Given the description of an element on the screen output the (x, y) to click on. 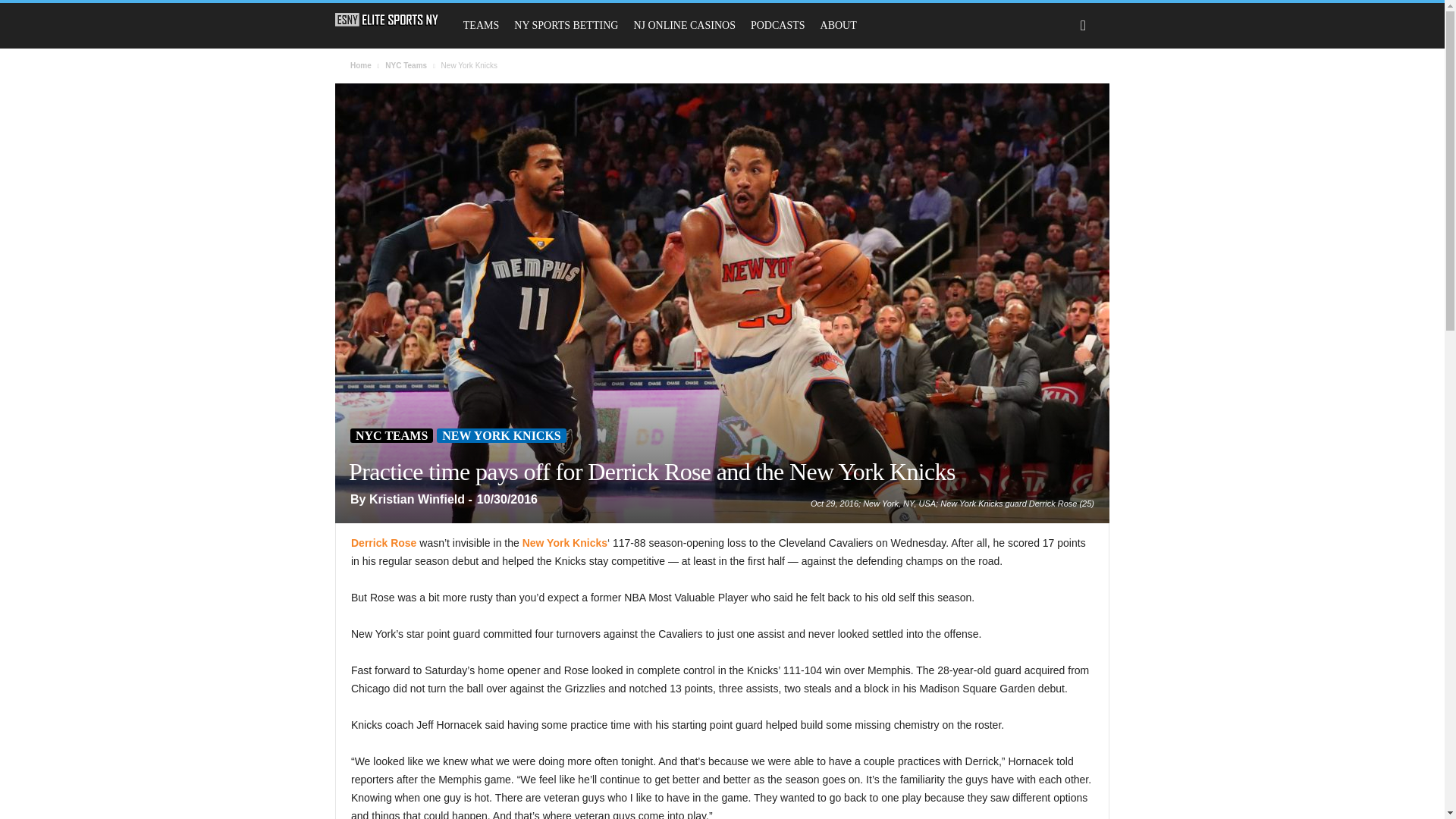
Elite Sports NY (386, 19)
View all posts in NYC Teams (405, 65)
TEAMS (480, 25)
Elite Sports NY (394, 19)
